Given the description of an element on the screen output the (x, y) to click on. 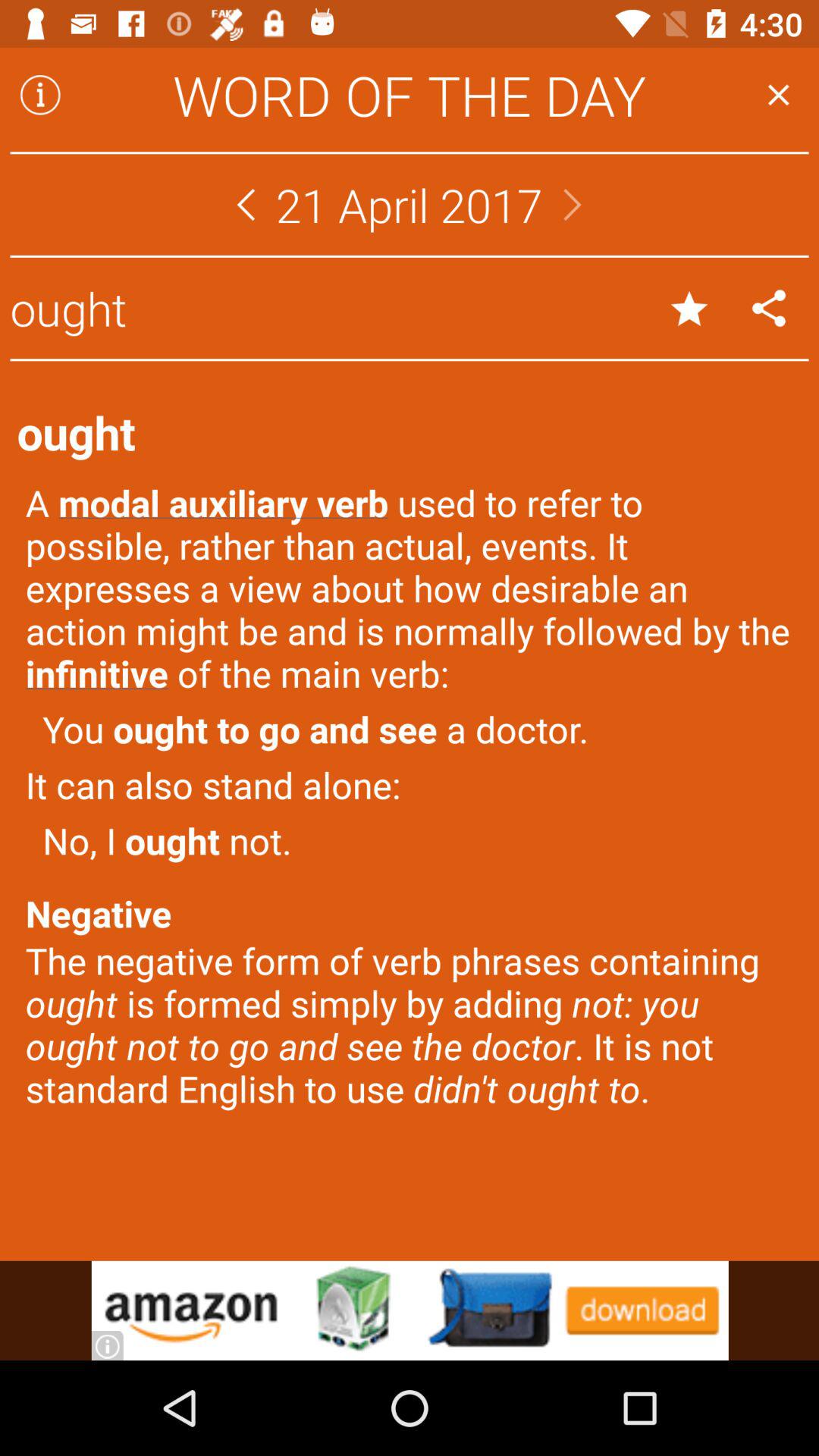
help tool (40, 94)
